Given the description of an element on the screen output the (x, y) to click on. 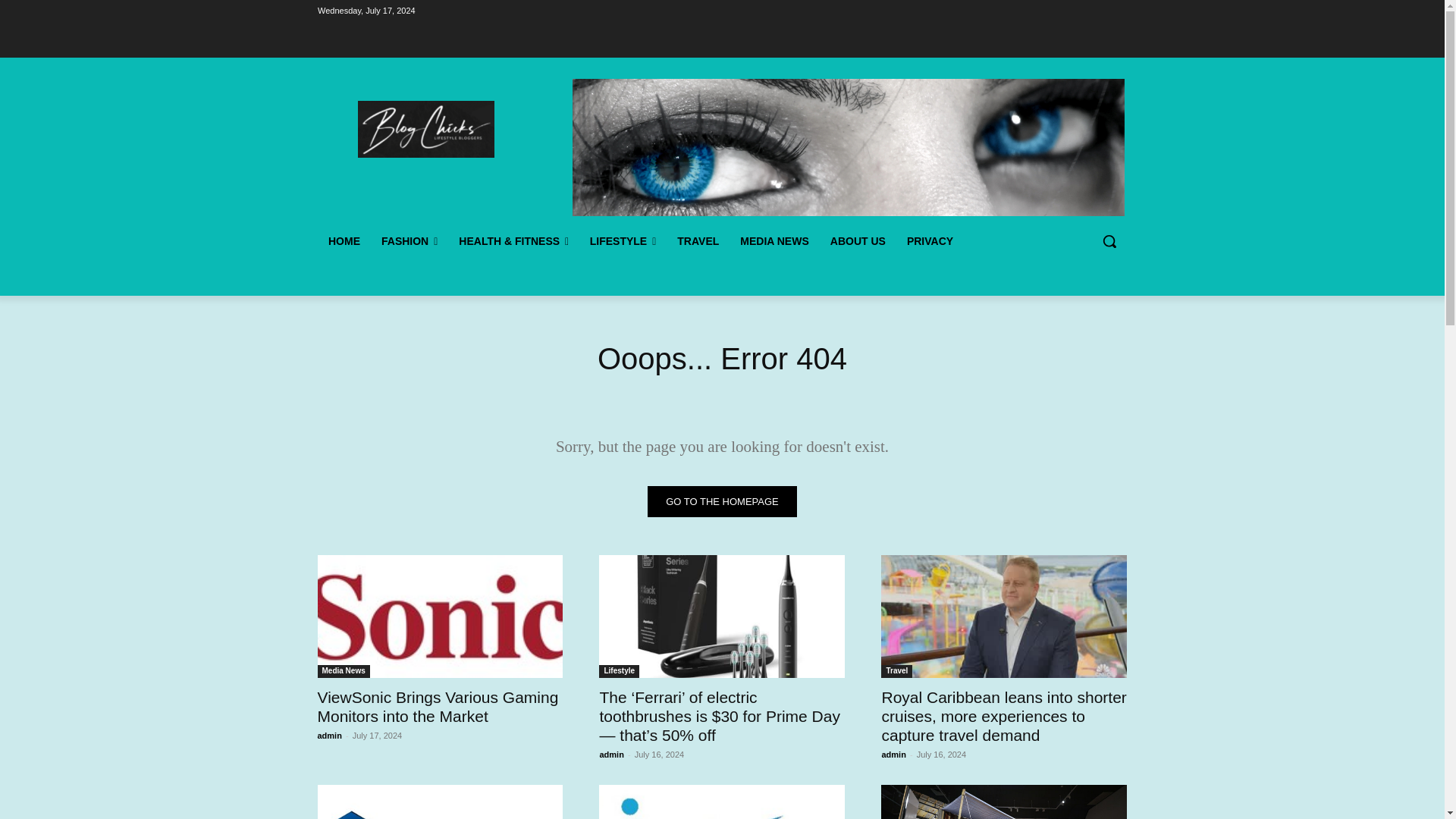
FASHION (407, 240)
HOME (343, 240)
